Given the description of an element on the screen output the (x, y) to click on. 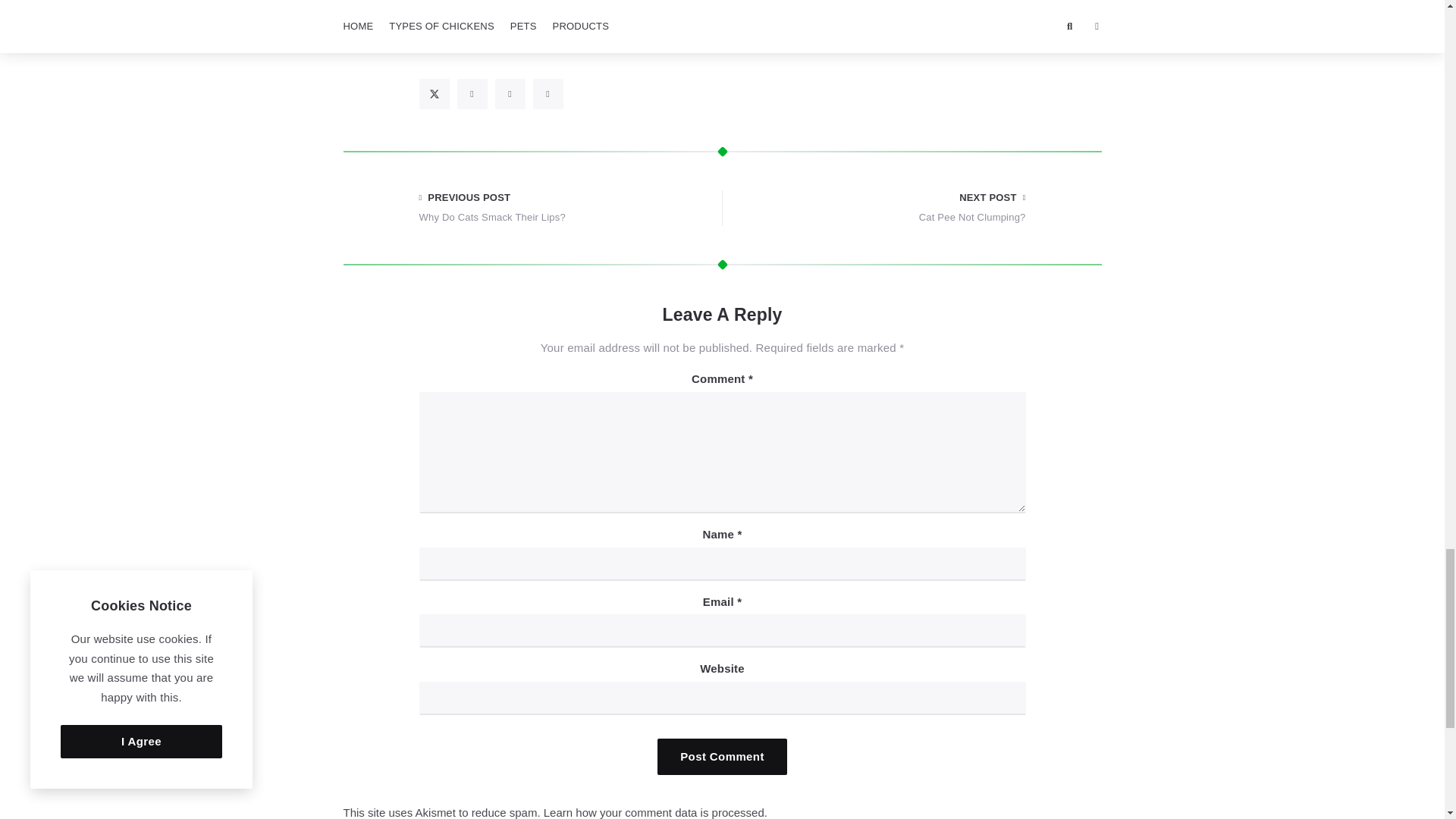
Share on Facebook (471, 93)
Share on Twitter X (433, 93)
Share on Reddit (547, 93)
Share on Pinterest (509, 93)
Post comment (722, 756)
